Given the description of an element on the screen output the (x, y) to click on. 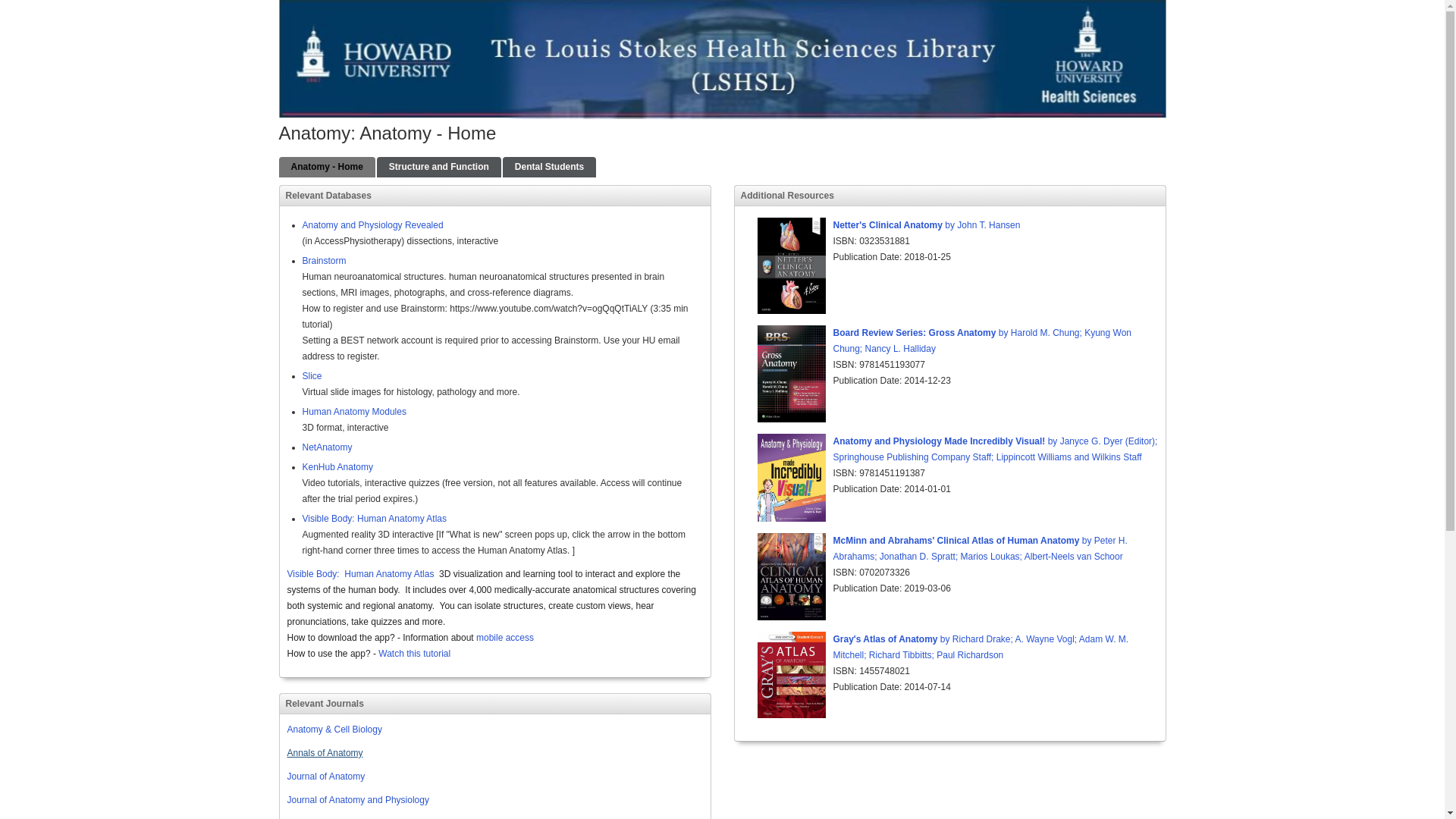
Annals of Anatomy (324, 752)
Slice (311, 376)
Brainstorm (323, 260)
Netter's Clinical Anatomy by John T. Hansen (926, 225)
mobile access  (505, 637)
Watch this tutorial (413, 653)
Anatomy - Home (327, 167)
KenHub Anatomy (336, 466)
Structure and Function (438, 167)
Visible Body:  Human Anatomy Atlas (359, 573)
Visible Body: Human Anatomy Atlas (373, 518)
Journal of Anatomy (325, 776)
